Given the description of an element on the screen output the (x, y) to click on. 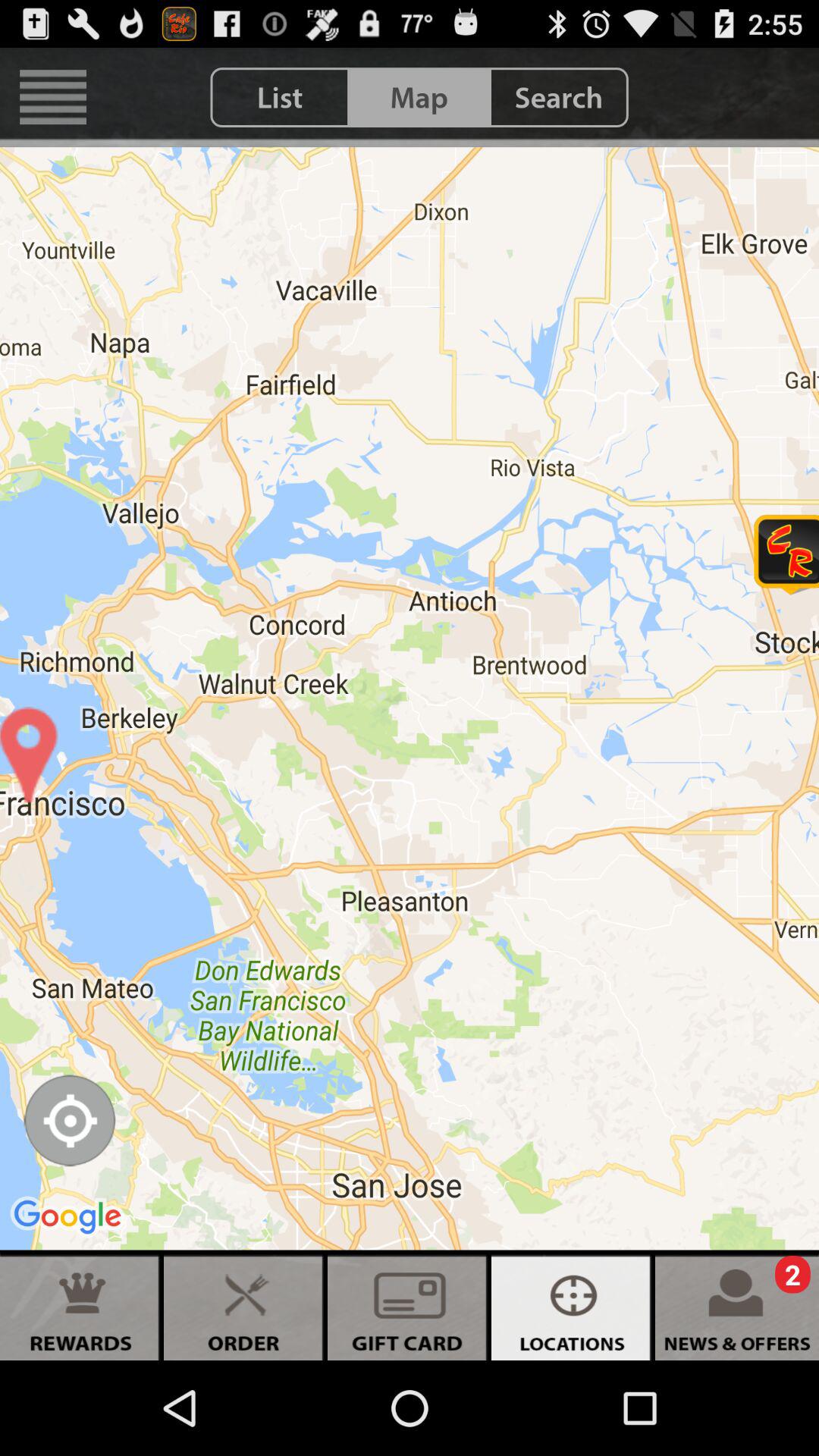
turn off the list icon (279, 97)
